Given the description of an element on the screen output the (x, y) to click on. 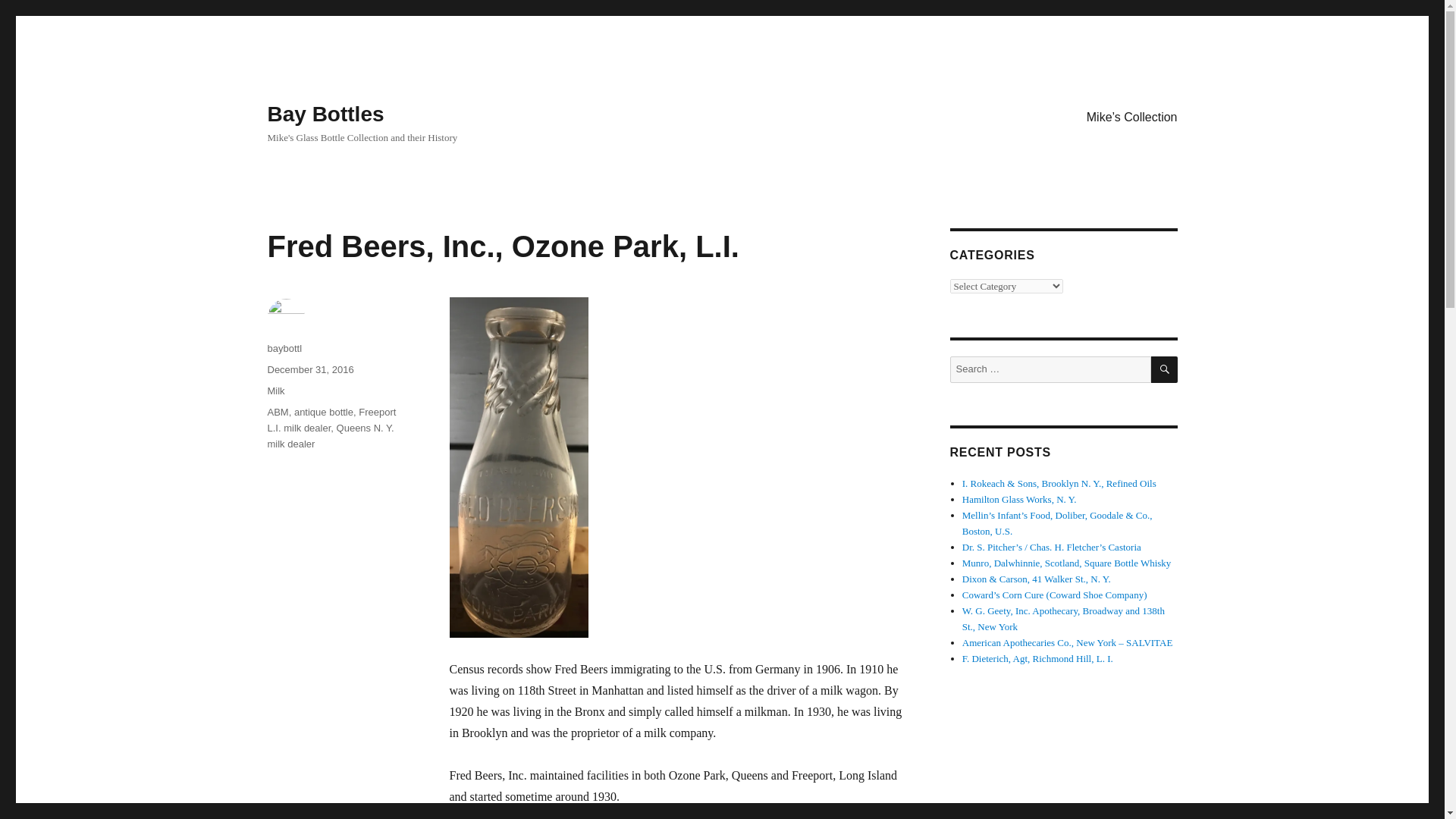
baybottl (283, 348)
Queens N. Y. milk dealer (329, 435)
F. Dieterich, Agt, Richmond Hill, L. I. (1037, 658)
Milk (274, 390)
antique bottle (323, 411)
December 31, 2016 (309, 369)
Munro, Dalwhinnie, Scotland, Square Bottle Whisky (1067, 562)
Freeport L.I. milk dealer (331, 420)
Bay Bottles (325, 114)
ABM (277, 411)
